Given the description of an element on the screen output the (x, y) to click on. 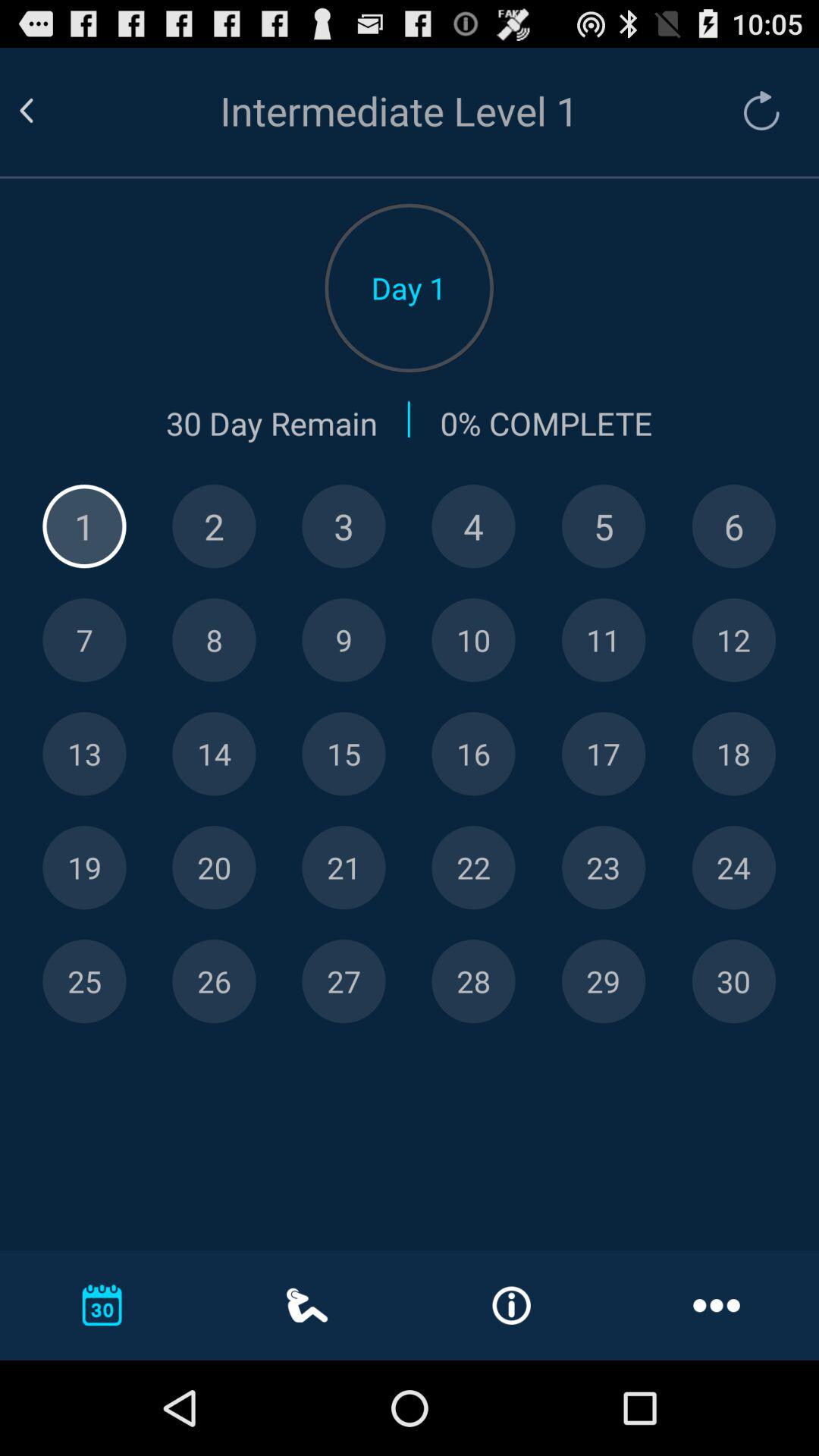
select day 20 (213, 867)
